Given the description of an element on the screen output the (x, y) to click on. 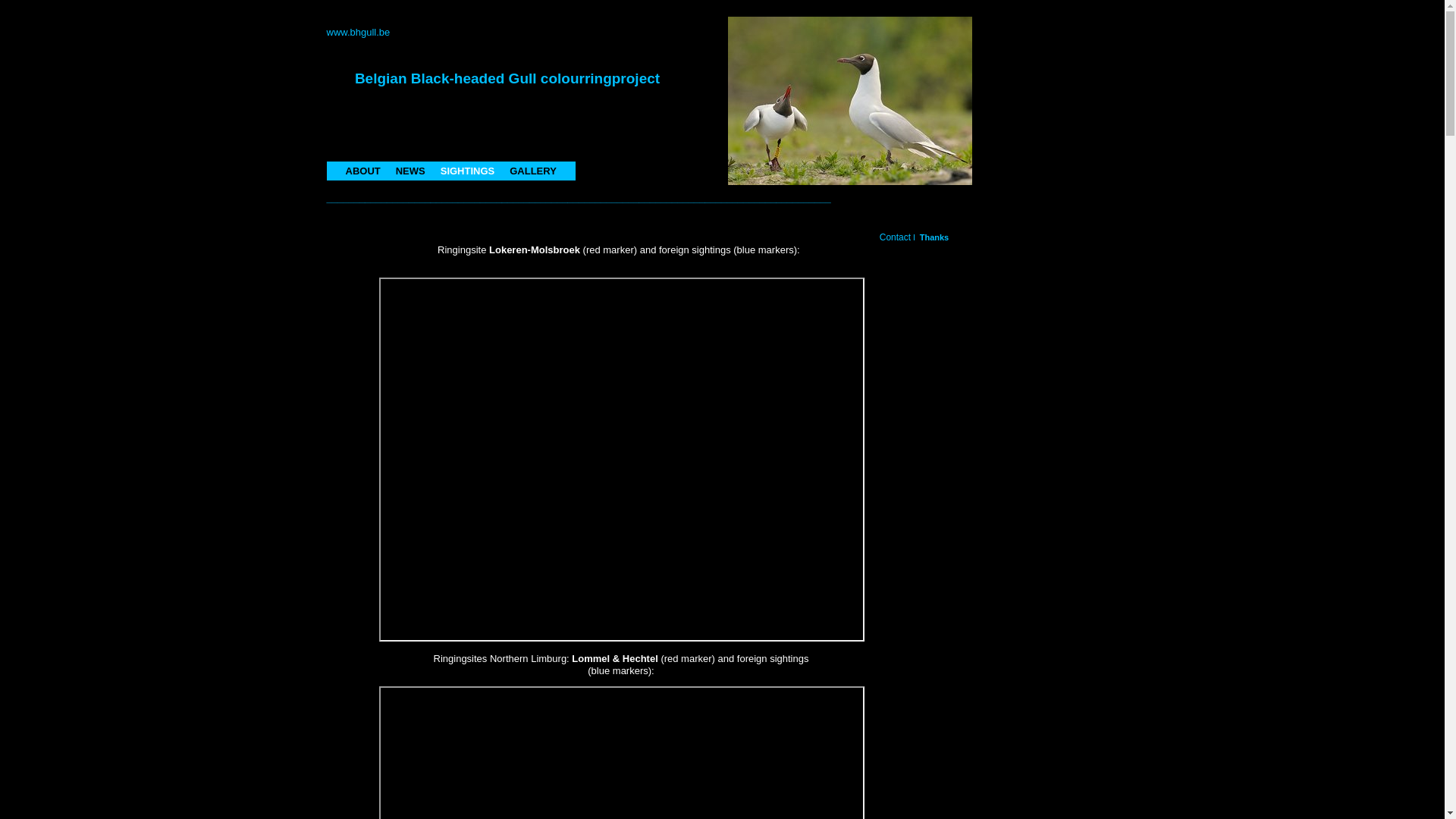
GALLERY Element type: text (533, 170)
Thanks Element type: text (934, 237)
SIGHTINGS Element type: text (467, 170)
www.bhgull.be Element type: text (357, 31)
NEWS Element type: text (410, 170)
Contact Element type: text (894, 237)
ABOUT Element type: text (363, 170)
